Given the description of an element on the screen output the (x, y) to click on. 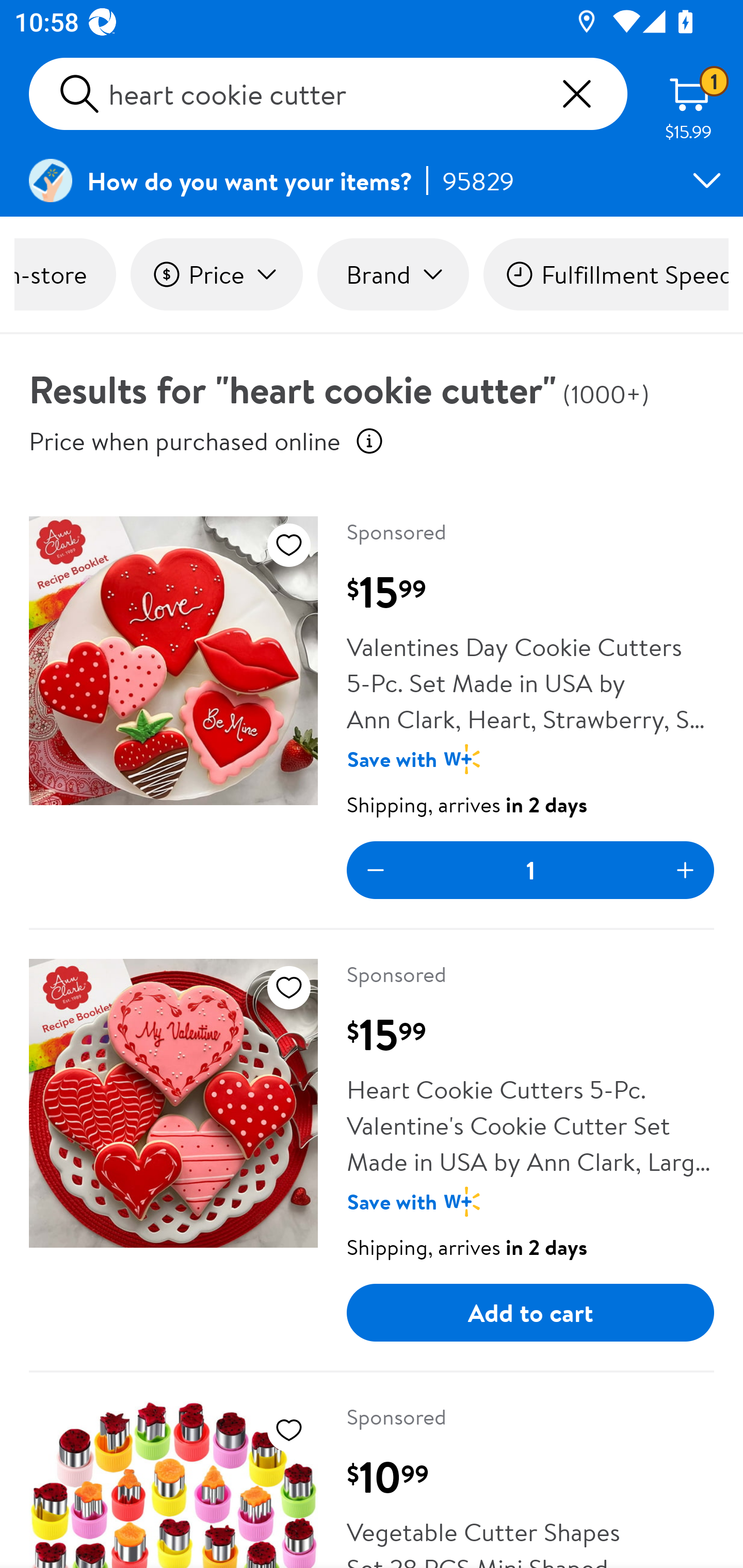
heart cookie cutter Clear Text (327, 94)
Clear Text (576, 94)
Filter by Brand, not applied,  Brand Select icon (392, 274)
Filter by Brand, not applied,  Brand Select icon (392, 274)
Price when purchased online (184, 440)
Price when purchased online (369, 440)
Add to cart (530, 1313)
